Given the description of an element on the screen output the (x, y) to click on. 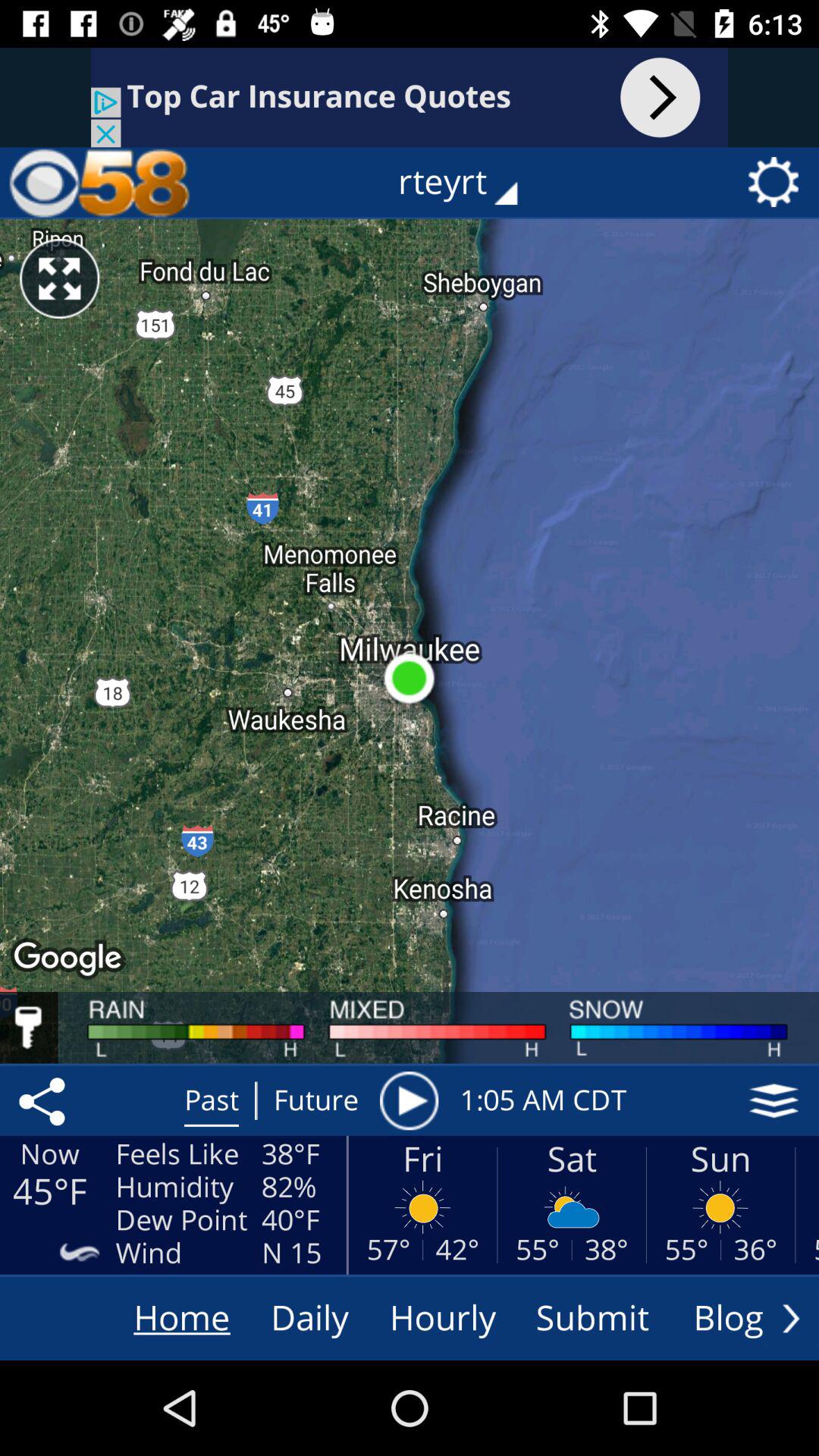
select the item next to rteyrt icon (99, 182)
